Given the description of an element on the screen output the (x, y) to click on. 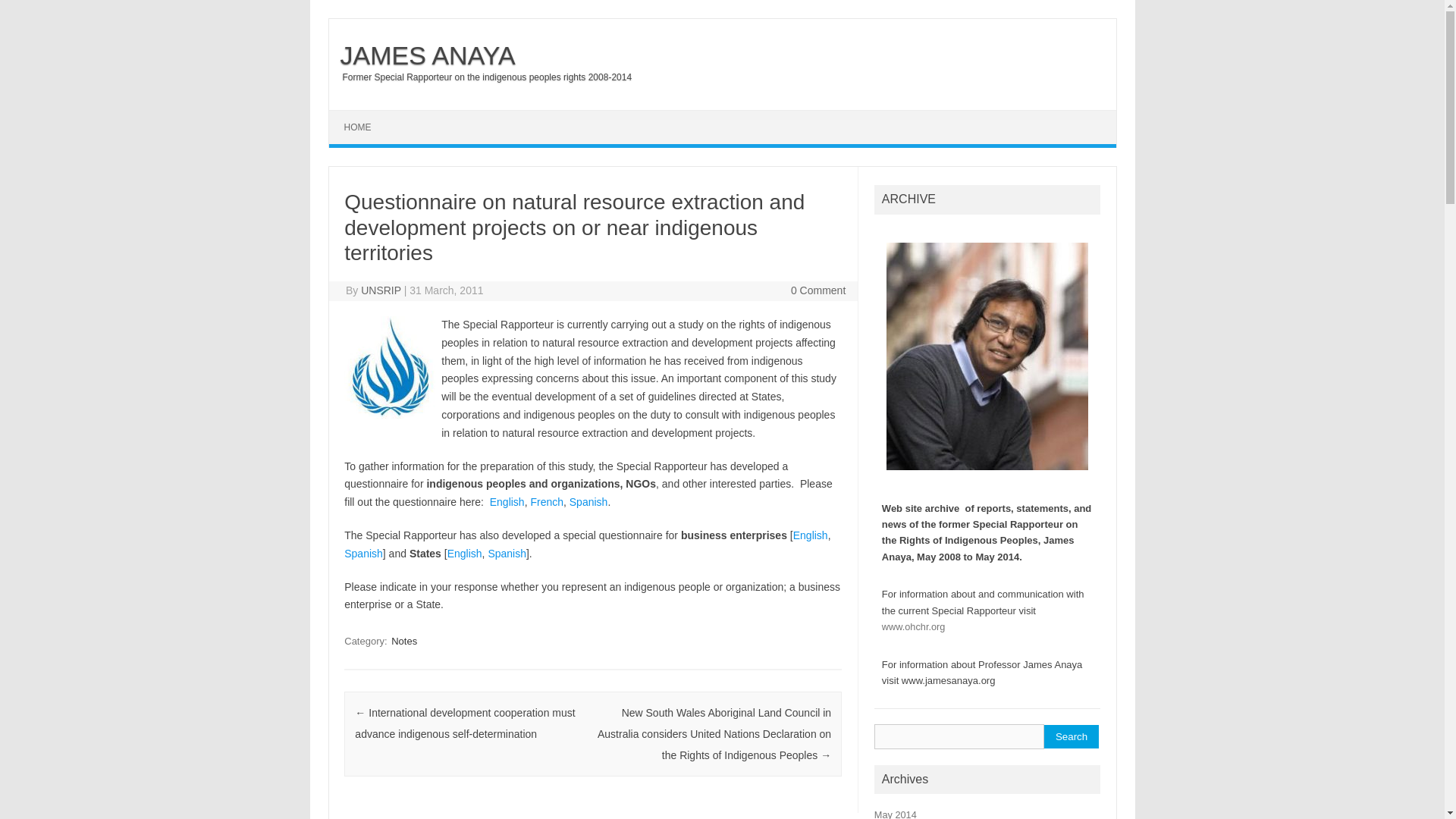
Skip to content (363, 114)
Notes (404, 640)
English (463, 553)
UNSRIP (381, 290)
Spanish (362, 553)
HOME (358, 127)
English (506, 501)
Search (1070, 736)
French (546, 501)
Skip to content (363, 114)
